Given the description of an element on the screen output the (x, y) to click on. 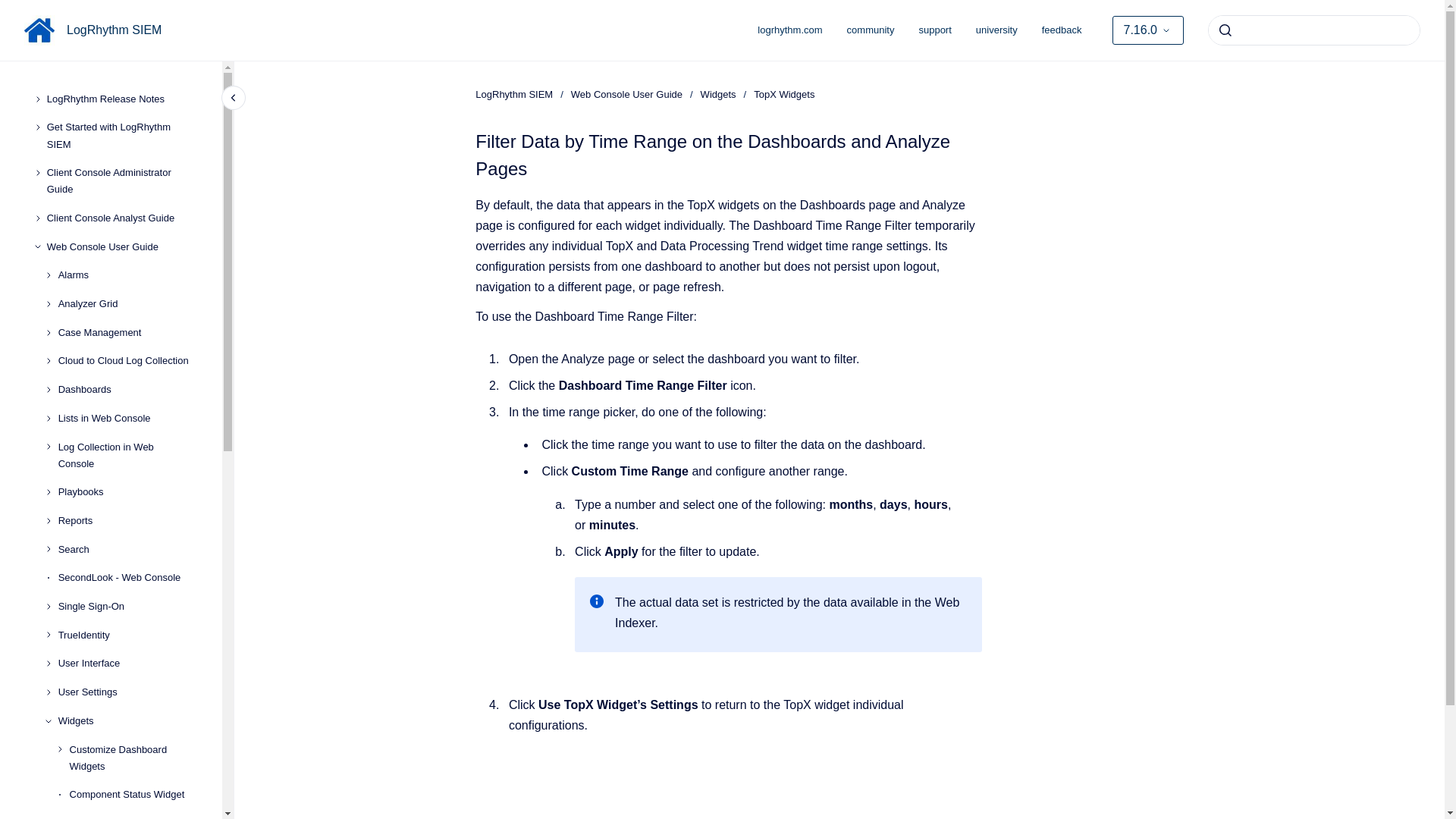
Cloud to Cloud Log Collection (128, 361)
university (996, 29)
Analyzer Grid (128, 303)
7.16.0 (1147, 30)
LogRhythm Release Notes (122, 99)
Lists in Web Console (128, 418)
Dashboards (128, 389)
Case Management (128, 332)
Log Collection in Web Console (128, 455)
Client Console Analyst Guide (122, 217)
Get Started with LogRhythm SIEM (122, 136)
Web Console User Guide (122, 247)
community (870, 29)
Alarms (128, 275)
Playbooks (128, 492)
